Given the description of an element on the screen output the (x, y) to click on. 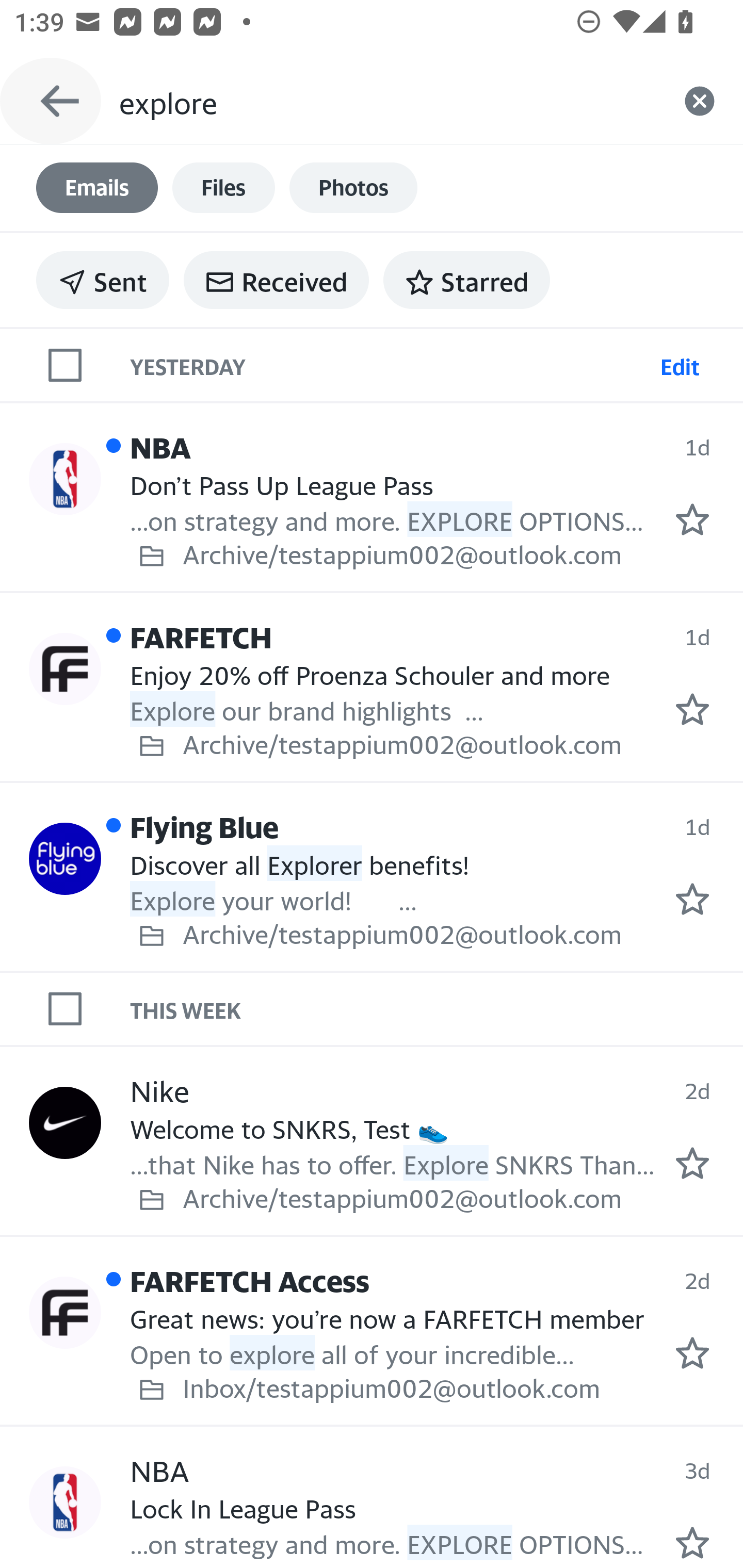
Back (50, 101)
explore (387, 101)
Clear (699, 101)
Emails (96, 188)
Files (223, 188)
Photos (353, 188)
Sent (102, 279)
Received (276, 279)
Starred (466, 279)
YESTERDAY (391, 364)
Edit Select emails (679, 364)
Profile
NBA (64, 479)
Mark as starred. (692, 519)
Profile
FARFETCH (64, 669)
Mark as starred. (692, 709)
Profile
Flying Blue (64, 859)
Mark as starred. (692, 899)
THIS WEEK (436, 1008)
Profile
Nike (64, 1122)
Mark as starred. (692, 1162)
Profile
FARFETCH Access (64, 1312)
Mark as starred. (692, 1352)
Profile
NBA (64, 1502)
Mark as starred. (692, 1542)
